Given the description of an element on the screen output the (x, y) to click on. 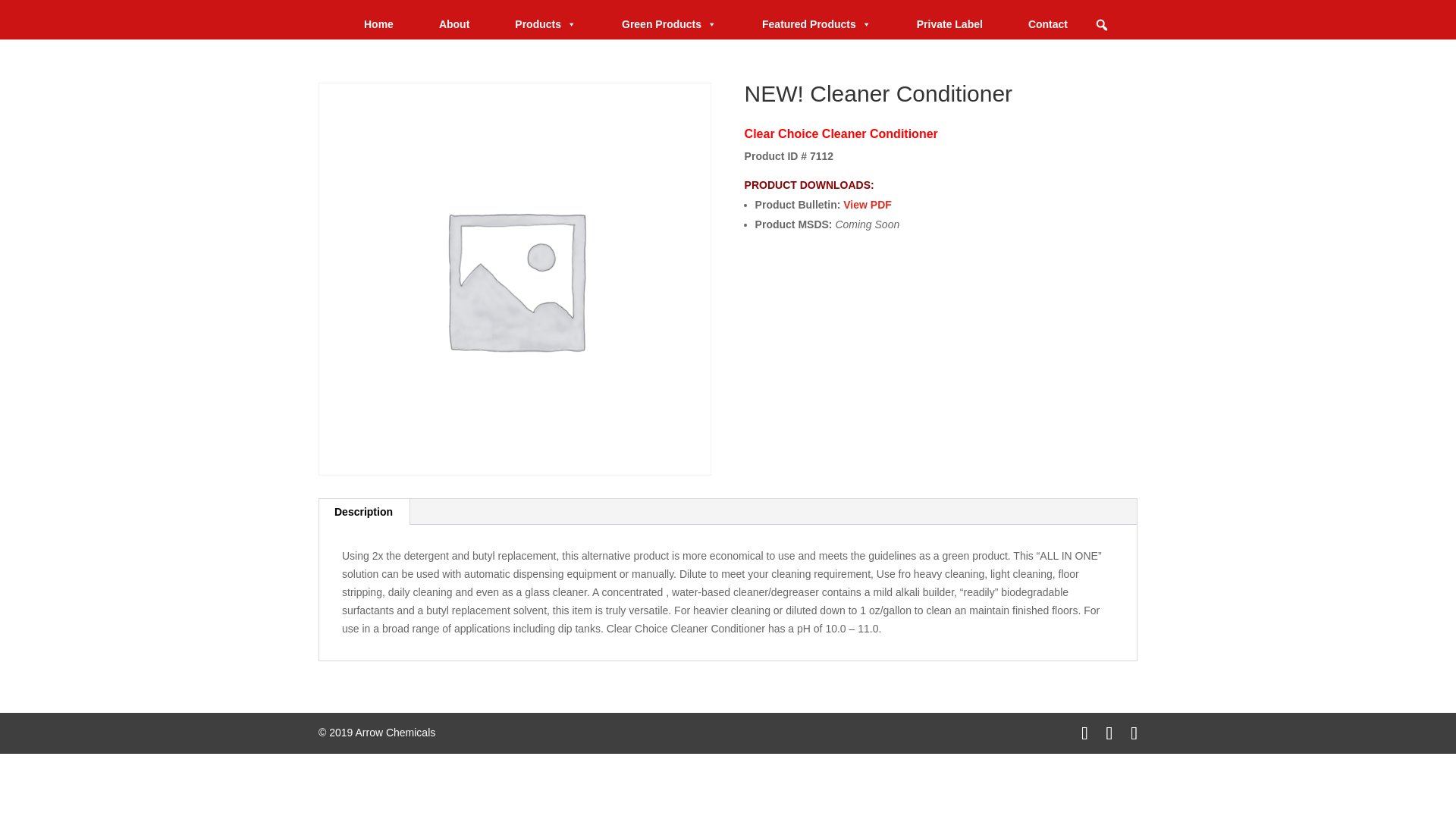
Home (378, 24)
Products (545, 24)
About (454, 24)
